Given the description of an element on the screen output the (x, y) to click on. 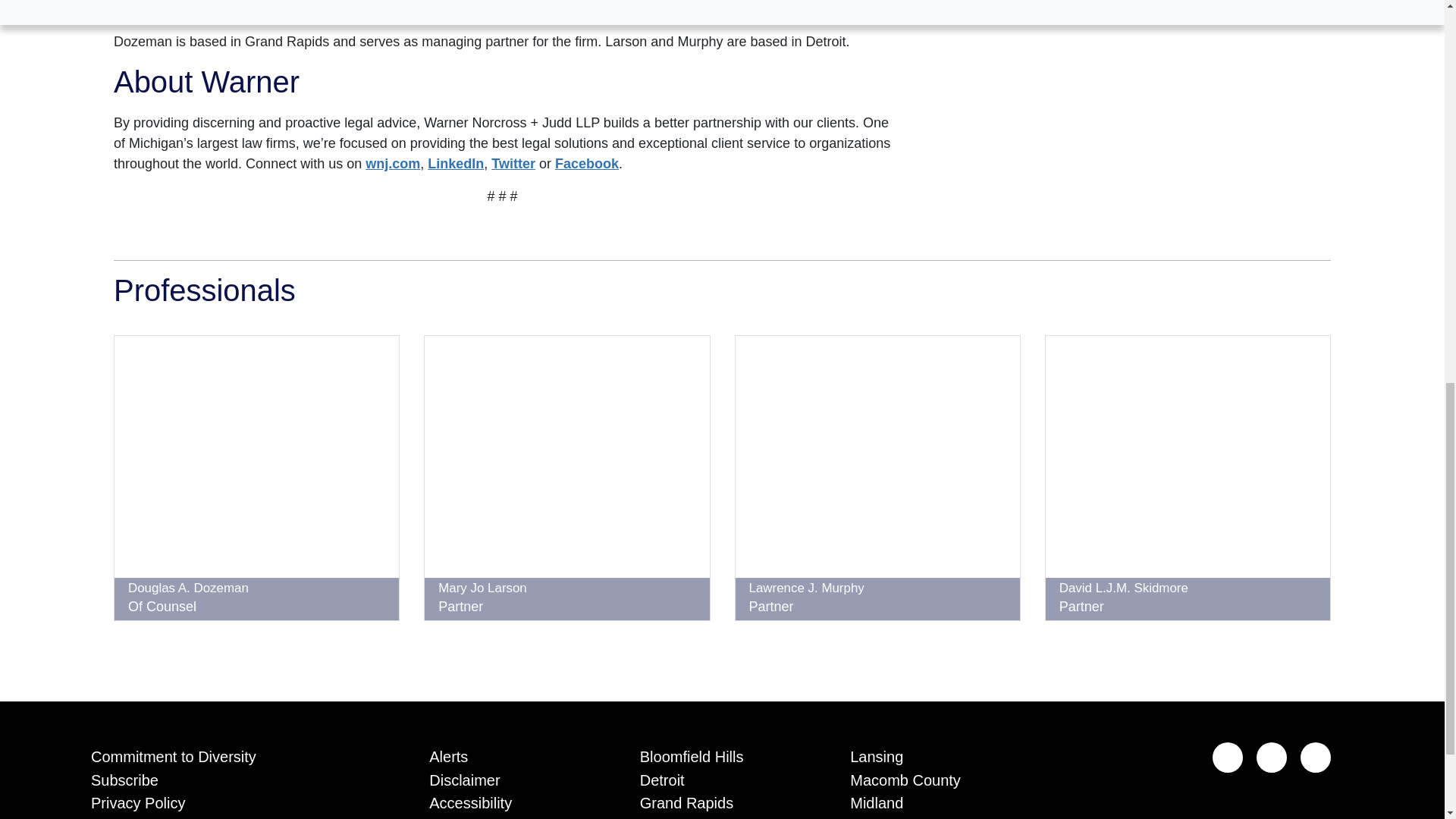
Twitter (1315, 757)
Client Payment Center (237, 815)
Twitter (513, 163)
Facebook (1271, 757)
Subscribe (237, 777)
Facebook (586, 163)
David L.J.M. Skidmore (1123, 587)
LinkedIn (455, 163)
Linkedin (1227, 757)
Alerts (511, 753)
